Given the description of an element on the screen output the (x, y) to click on. 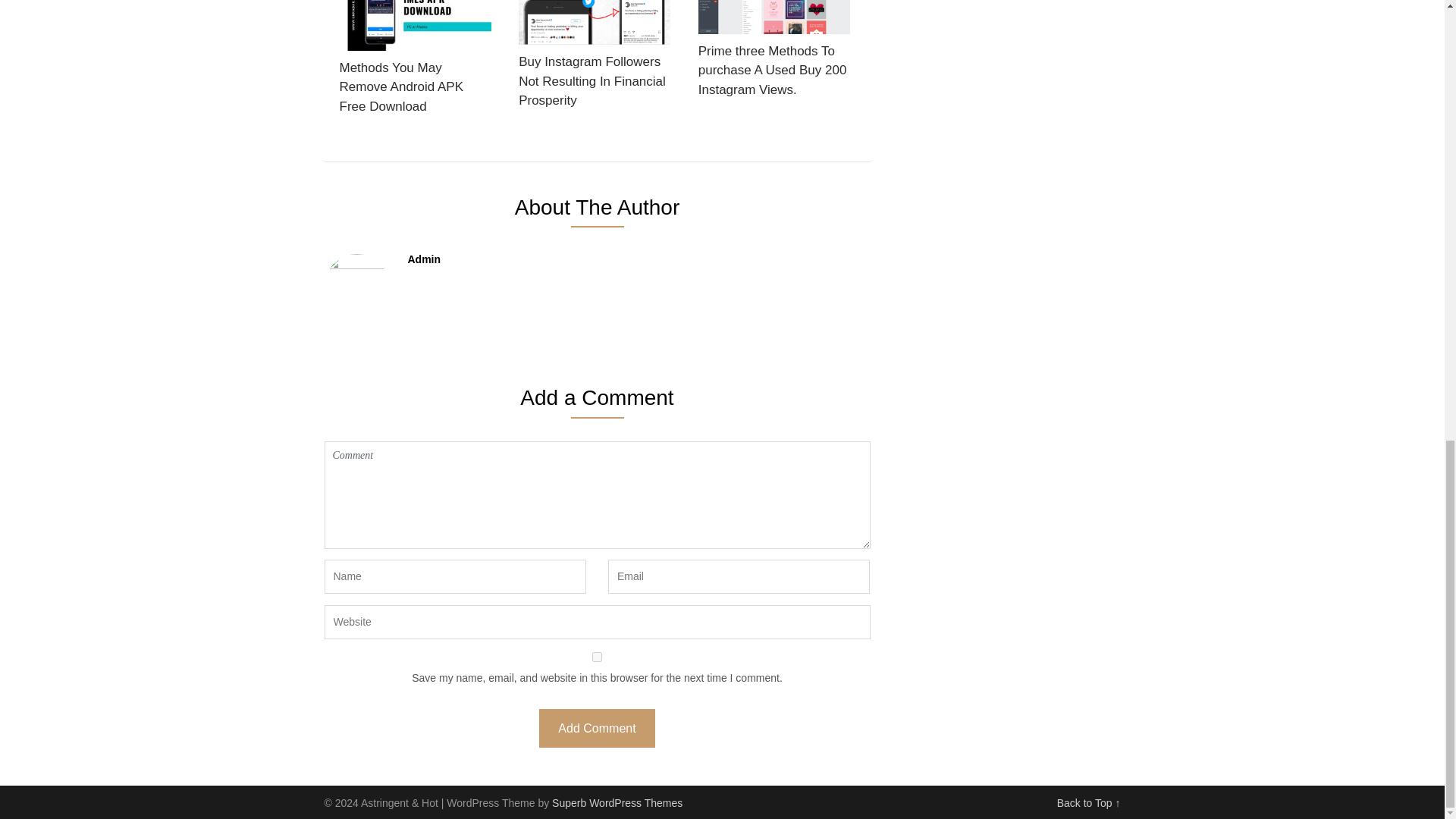
Superb WordPress Themes (616, 802)
Add Comment (595, 728)
Methods You May Remove Android APK Free Download (415, 61)
Methods You May Remove Android APK Free Download (415, 61)
yes (597, 656)
Add Comment (595, 728)
